Given the description of an element on the screen output the (x, y) to click on. 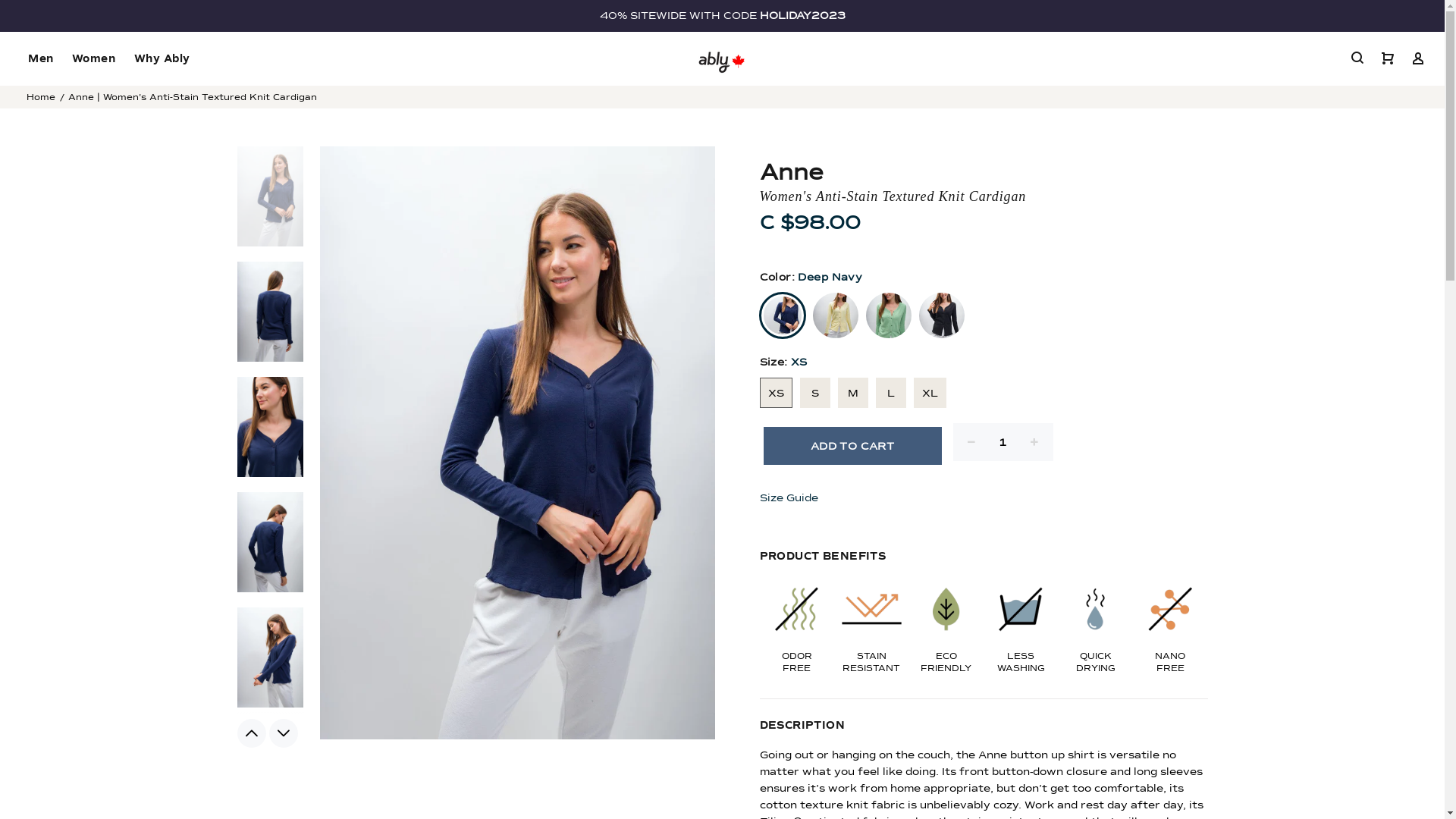
S Element type: text (814, 392)
Go to review Element type: hover (983, 243)
Previous Element type: text (250, 732)
L Element type: text (890, 392)
XS Element type: text (775, 392)
Black Element type: hover (941, 315)
Why Ably Element type: text (156, 58)
ADD TO CART Element type: text (851, 445)
Butter Element type: hover (835, 315)
Deep Navy Element type: hover (782, 315)
Size Guide Element type: text (791, 497)
Next Element type: text (282, 732)
Women Element type: text (93, 58)
XL Element type: text (929, 392)
Men Element type: text (40, 58)
Home Element type: text (40, 96)
Basil Element type: hover (888, 315)
M Element type: text (852, 392)
